Given the description of an element on the screen output the (x, y) to click on. 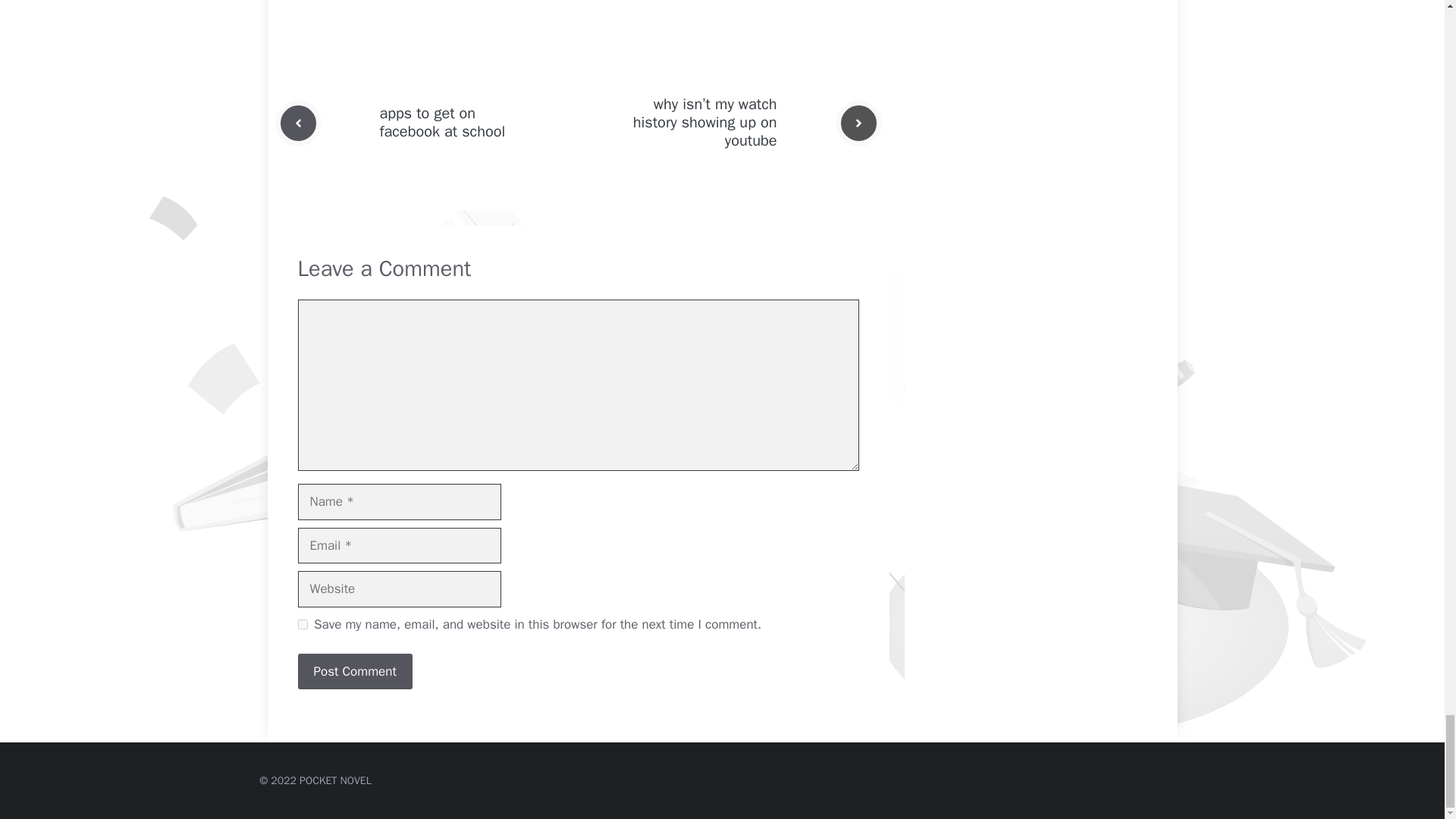
yes (302, 624)
Post Comment (354, 671)
apps to get on facebook at school (441, 122)
Post Comment (354, 671)
